Given the description of an element on the screen output the (x, y) to click on. 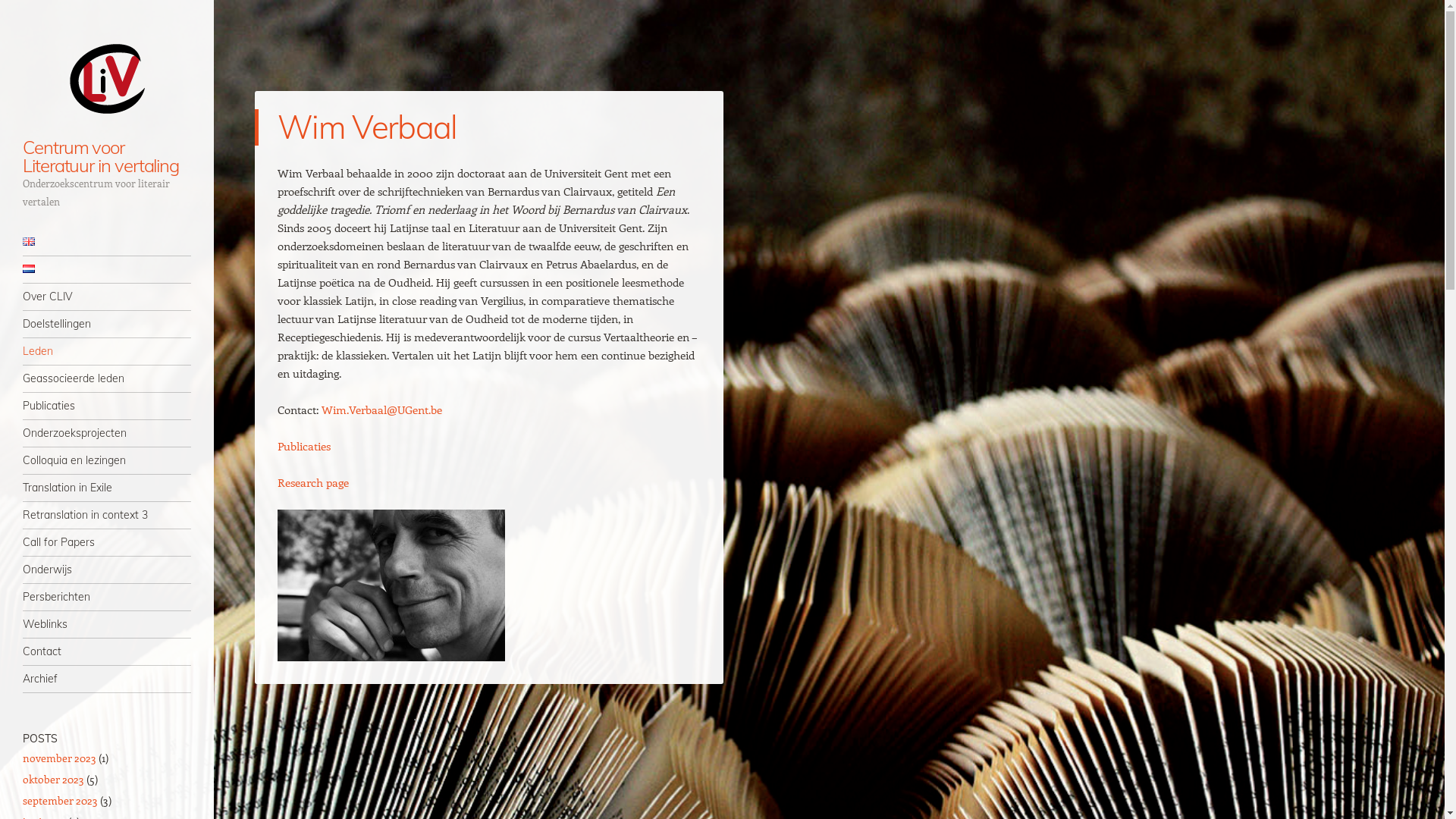
Publicaties Element type: text (106, 405)
Nederlands Element type: hover (28, 268)
november 2023 Element type: text (59, 757)
Skip to content Element type: text (59, 242)
Leden Element type: text (106, 351)
Colloquia en lezingen Element type: text (106, 460)
Weblinks Element type: text (106, 624)
Persberichten Element type: text (106, 596)
oktober 2023 Element type: text (53, 778)
English Element type: hover (28, 241)
Publicaties Element type: text (303, 445)
september 2023 Element type: text (59, 800)
Centrum voor Literatuur in vertaling Element type: hover (106, 77)
Geassocieerde leden Element type: text (106, 378)
Wim.Verbaal@UGent.be Element type: text (380, 409)
Over CLIV Element type: text (106, 296)
Research page Element type: text (312, 481)
Translation in Exile Element type: text (106, 487)
Onderzoeksprojecten Element type: text (106, 433)
Centrum voor Literatuur in vertaling Element type: text (100, 155)
Retranslation in context 3 Element type: text (106, 515)
Doelstellingen Element type: text (106, 323)
Contact Element type: text (106, 651)
Archief Element type: text (106, 678)
Onderwijs Element type: text (106, 569)
Call for Papers Element type: text (106, 542)
